Given the description of an element on the screen output the (x, y) to click on. 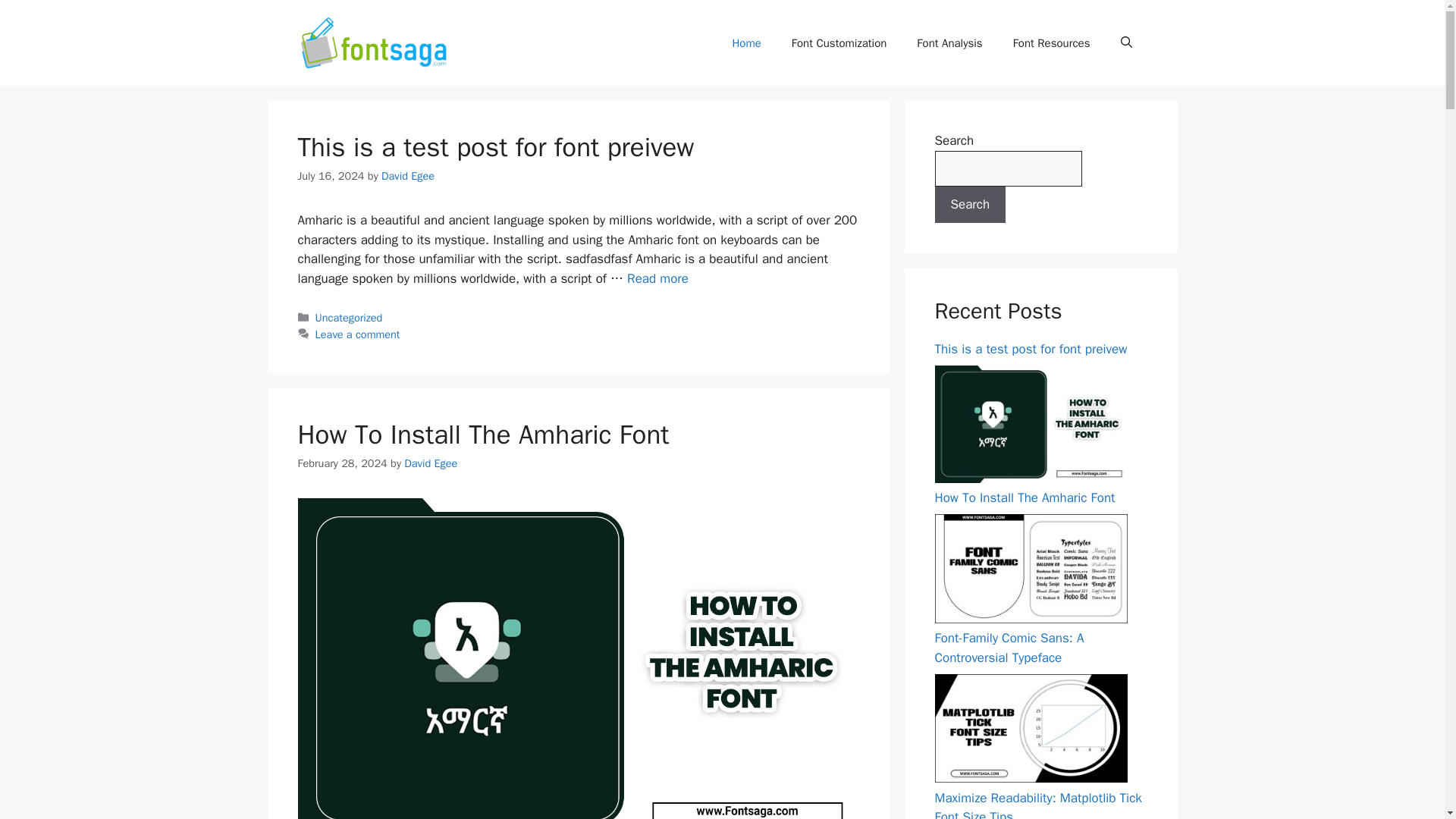
Uncategorized (348, 317)
View all posts by David Egee (430, 463)
View all posts by David Egee (407, 175)
Read more (657, 278)
Leave a comment (357, 334)
This is a test post for font preivew (657, 278)
David Egee (430, 463)
Home (746, 43)
David Egee (407, 175)
Font Analysis (949, 43)
